Given the description of an element on the screen output the (x, y) to click on. 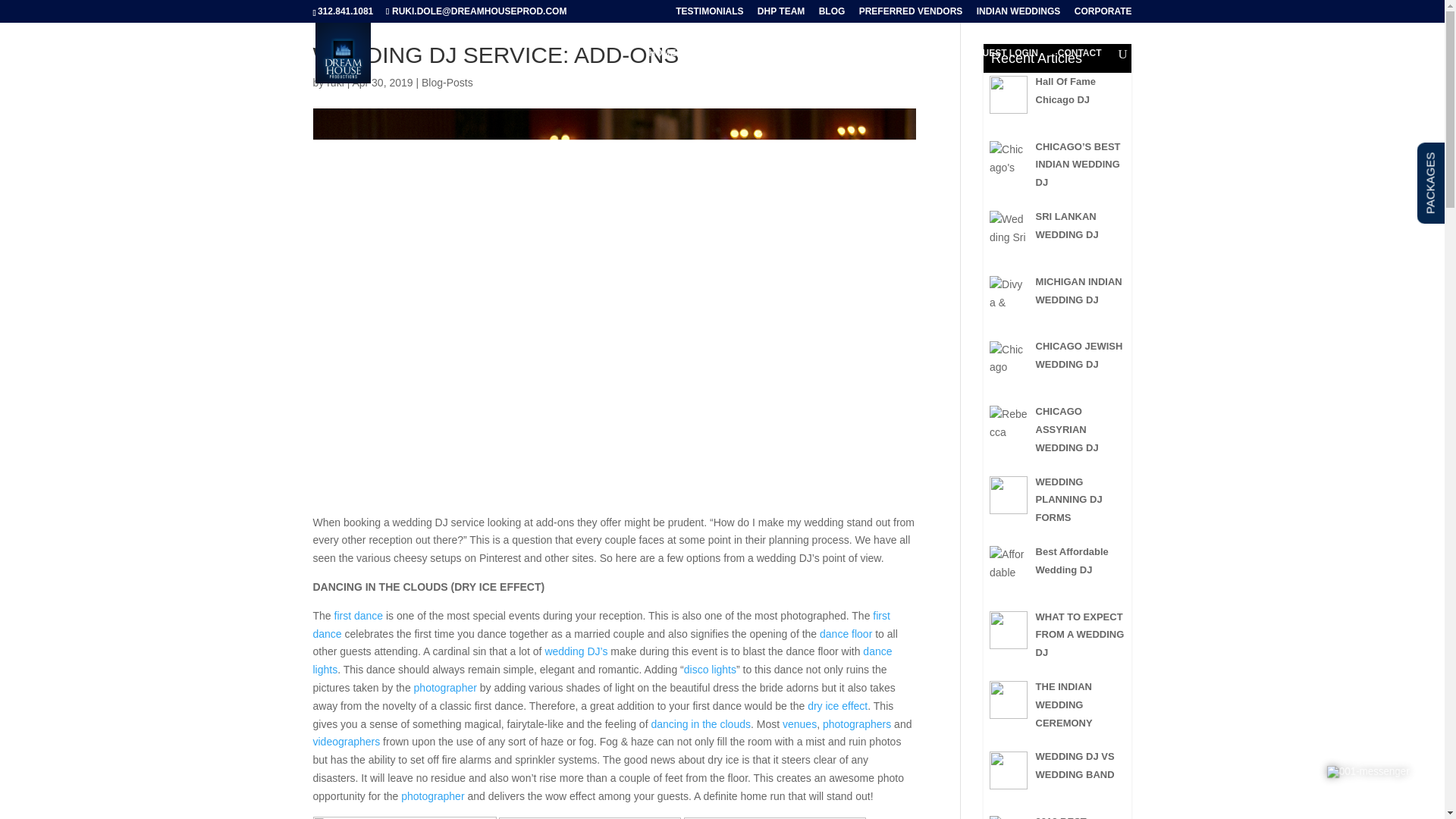
DHP TEAM (781, 14)
dancing in the clouds (700, 724)
videographers (346, 741)
INDIAN WEDDINGS (1018, 14)
dry ice effect (837, 705)
CORPORATE (1103, 14)
dance lights (602, 660)
CAR RENTAL (869, 65)
CONTACT (1080, 65)
Posts by ruki (334, 82)
